Given the description of an element on the screen output the (x, y) to click on. 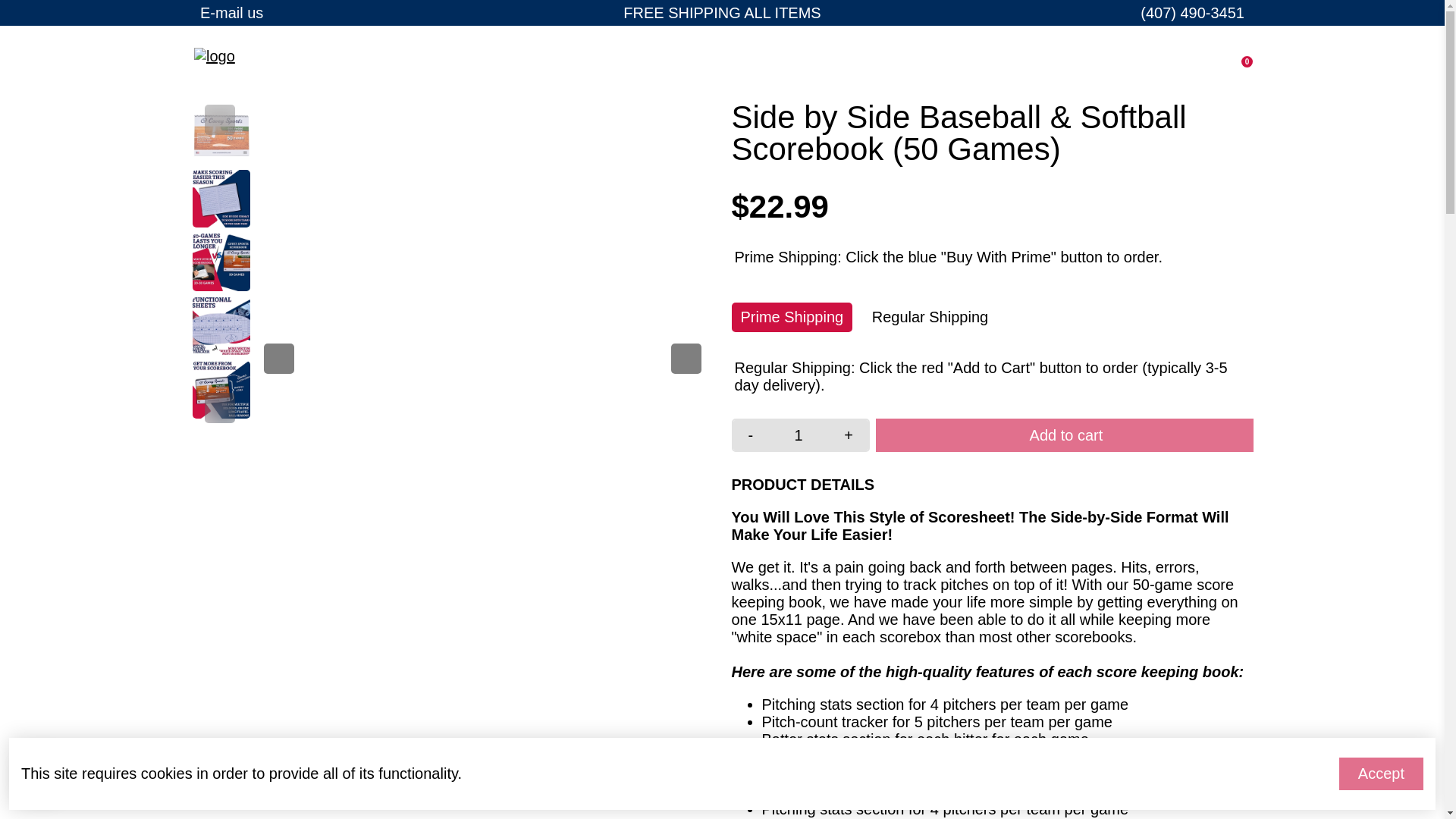
1 (798, 435)
- (750, 435)
E-mail us (231, 12)
